Given the description of an element on the screen output the (x, y) to click on. 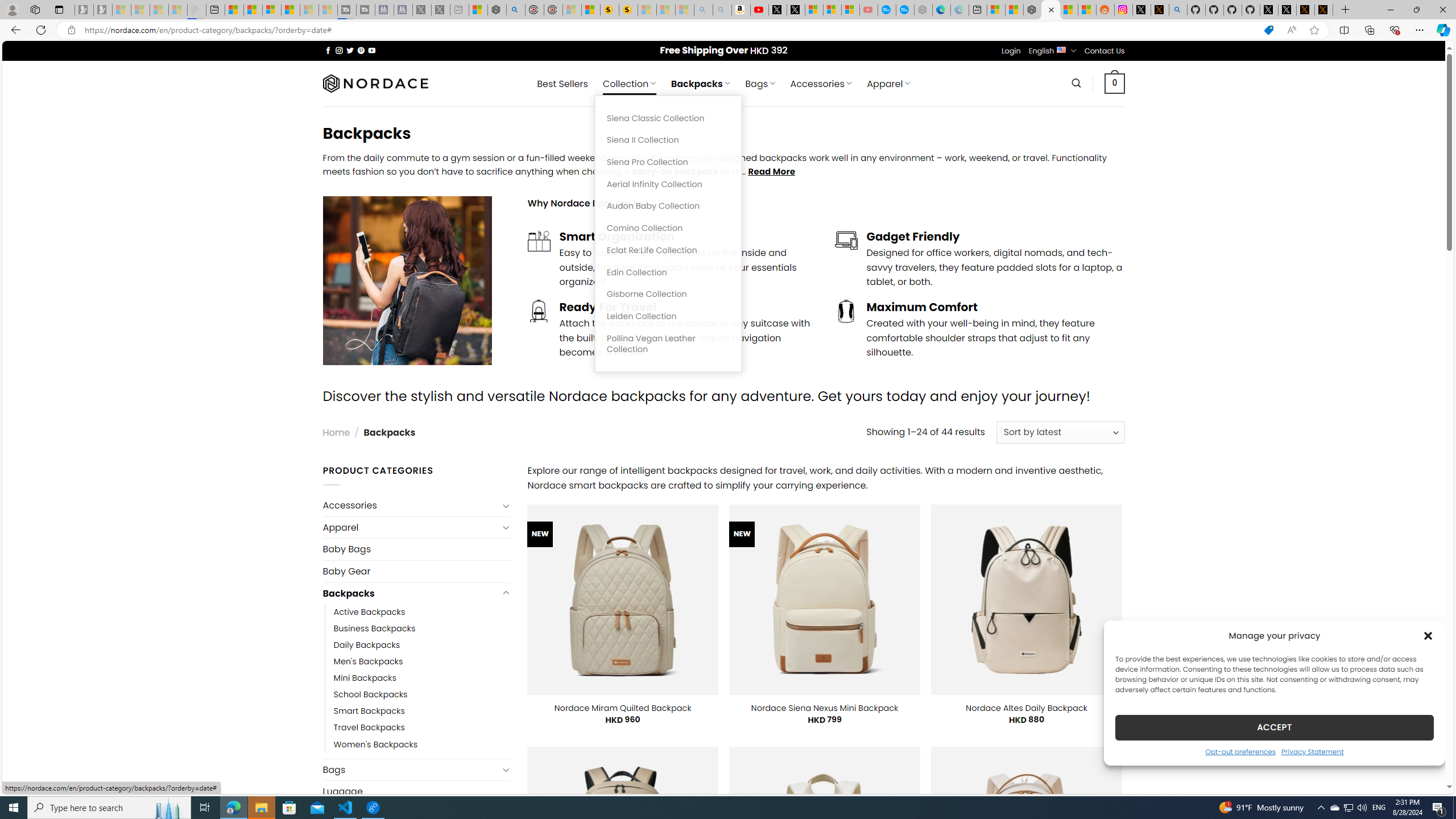
  0   (1115, 83)
Siena II Collection (668, 140)
Baby Gear (416, 571)
Baby Gear (416, 570)
Audon Baby Collection (668, 205)
Active Backpacks (422, 612)
Pollina Vegan Leather Collection (668, 343)
Baby Bags (416, 549)
Leiden Collection (668, 316)
